Given the description of an element on the screen output the (x, y) to click on. 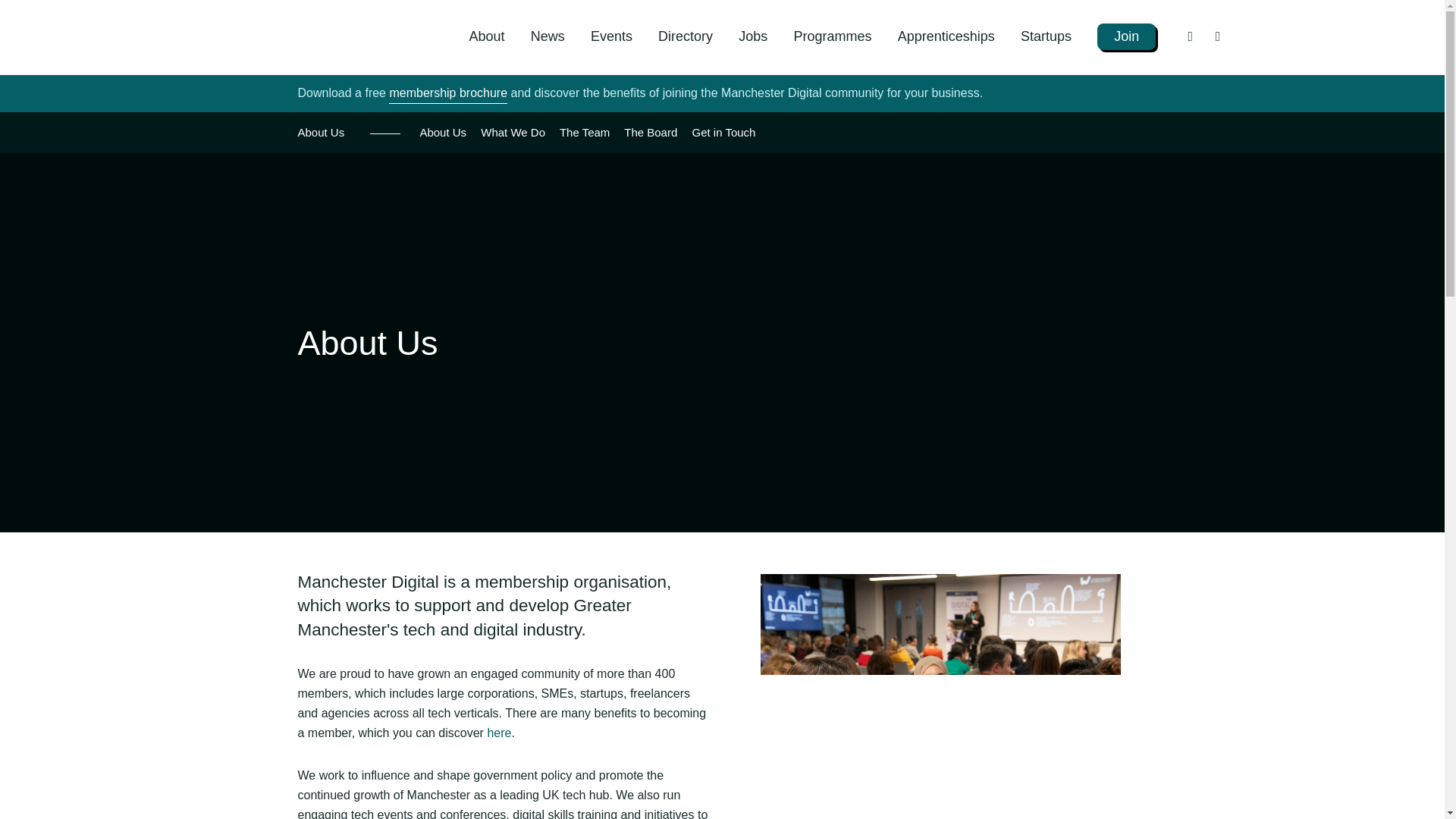
Startups (1045, 36)
Apprenticeships (946, 36)
About (485, 36)
Events (611, 36)
Jobs (752, 36)
News (547, 36)
Programmes (831, 36)
Directory (685, 36)
Manchester Digital (271, 36)
Join (1126, 36)
